Given the description of an element on the screen output the (x, y) to click on. 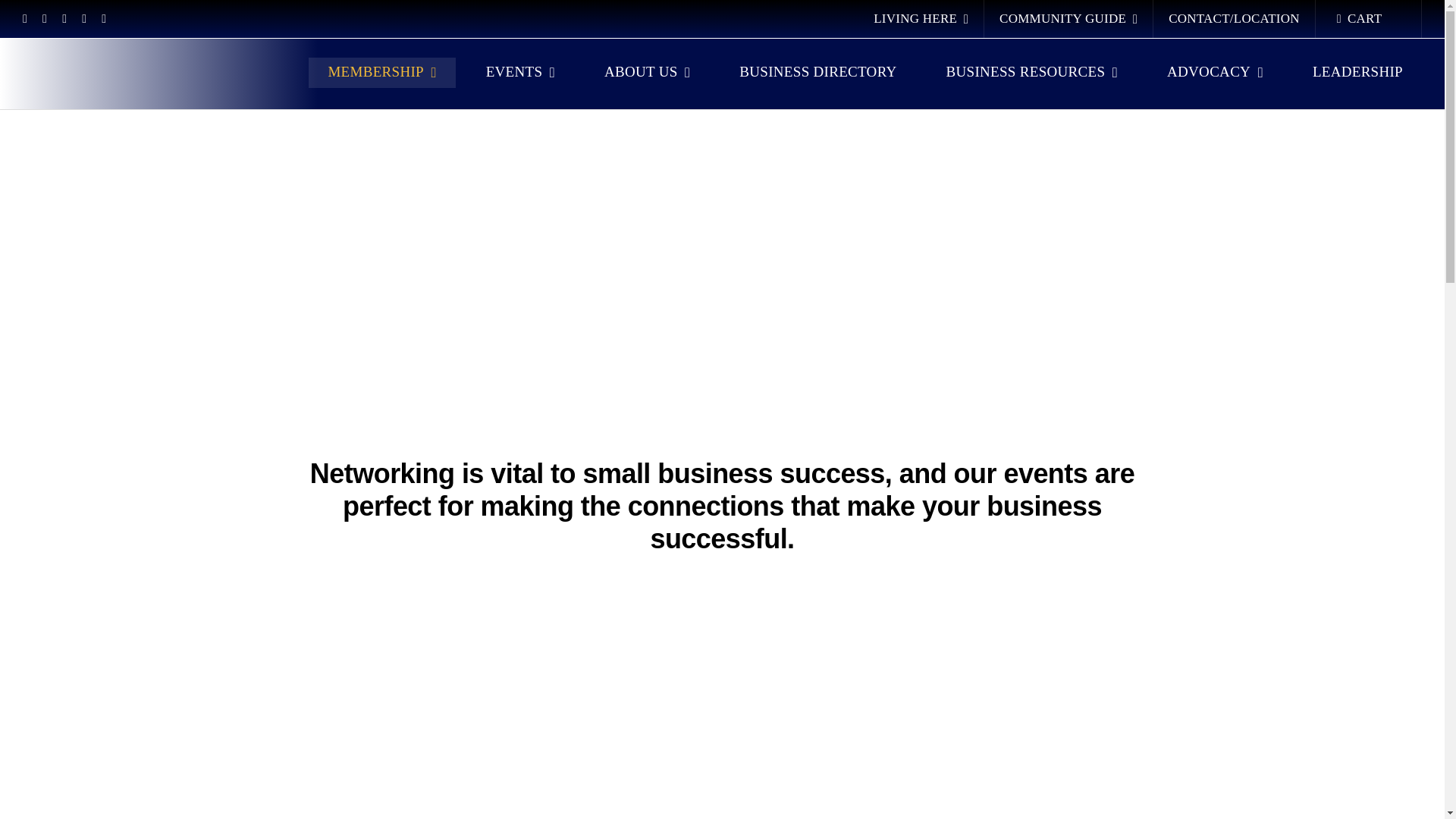
LIVING HERE (921, 18)
COMMUNITY GUIDE (1068, 18)
CART (1369, 18)
MEMBERSHIP (381, 72)
